Given the description of an element on the screen output the (x, y) to click on. 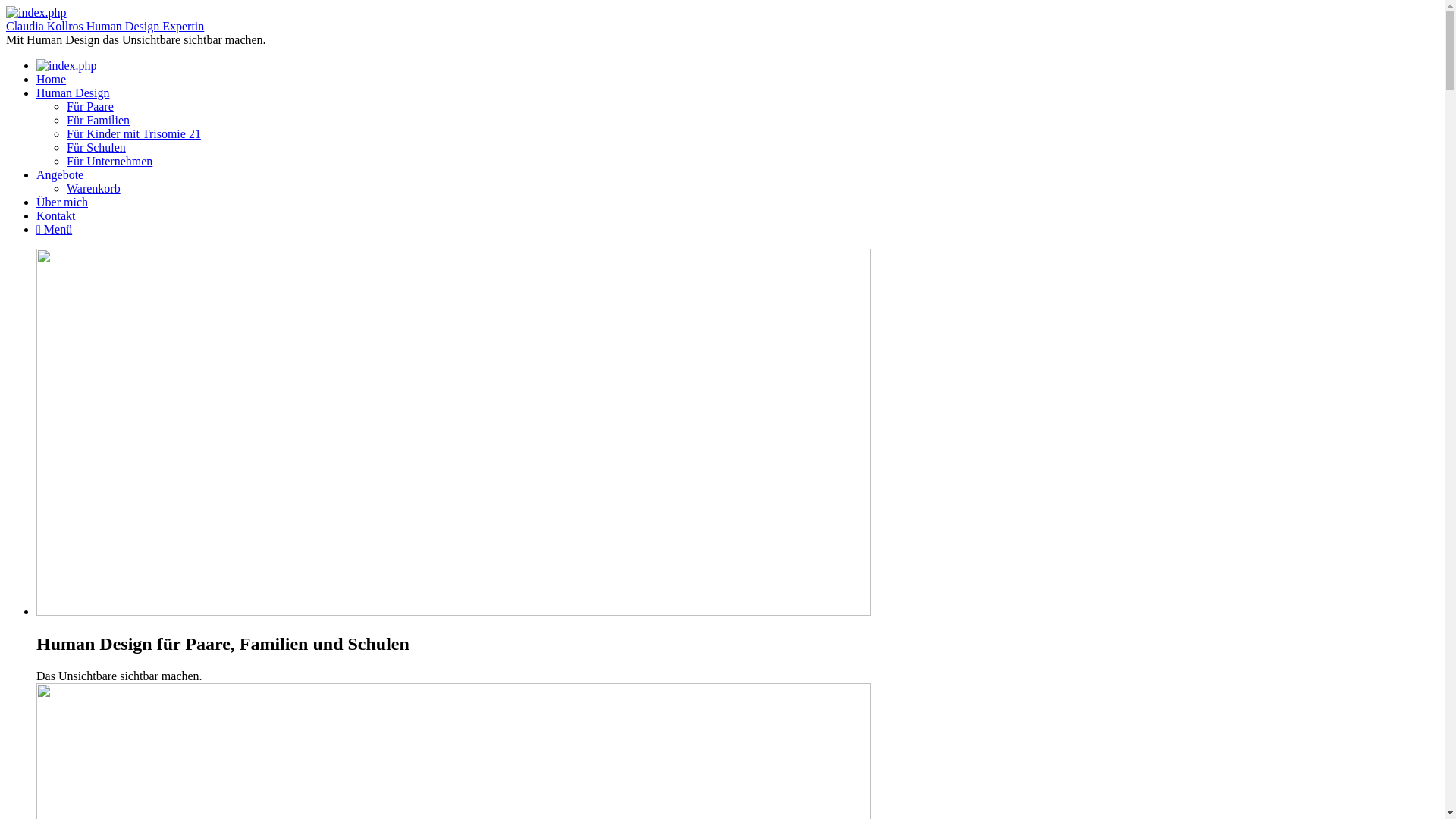
Warenkorb Element type: text (93, 188)
Kontakt Element type: text (55, 215)
Angebote Element type: text (59, 174)
Claudia Kollros Human Design Expertin Element type: text (104, 25)
Human Design Element type: text (72, 92)
Home Element type: text (50, 78)
